Given the description of an element on the screen output the (x, y) to click on. 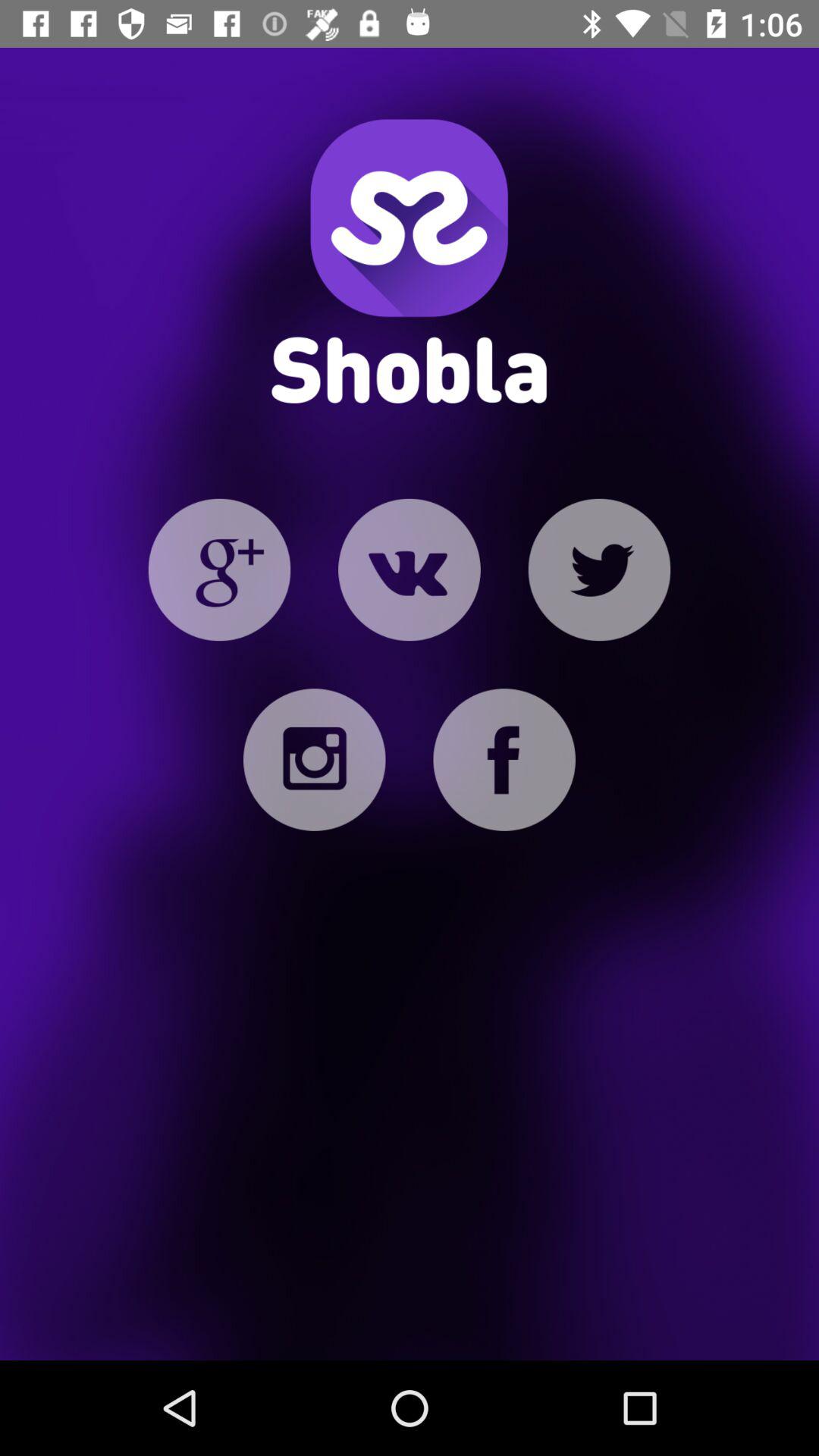
google plus icon (219, 569)
